Given the description of an element on the screen output the (x, y) to click on. 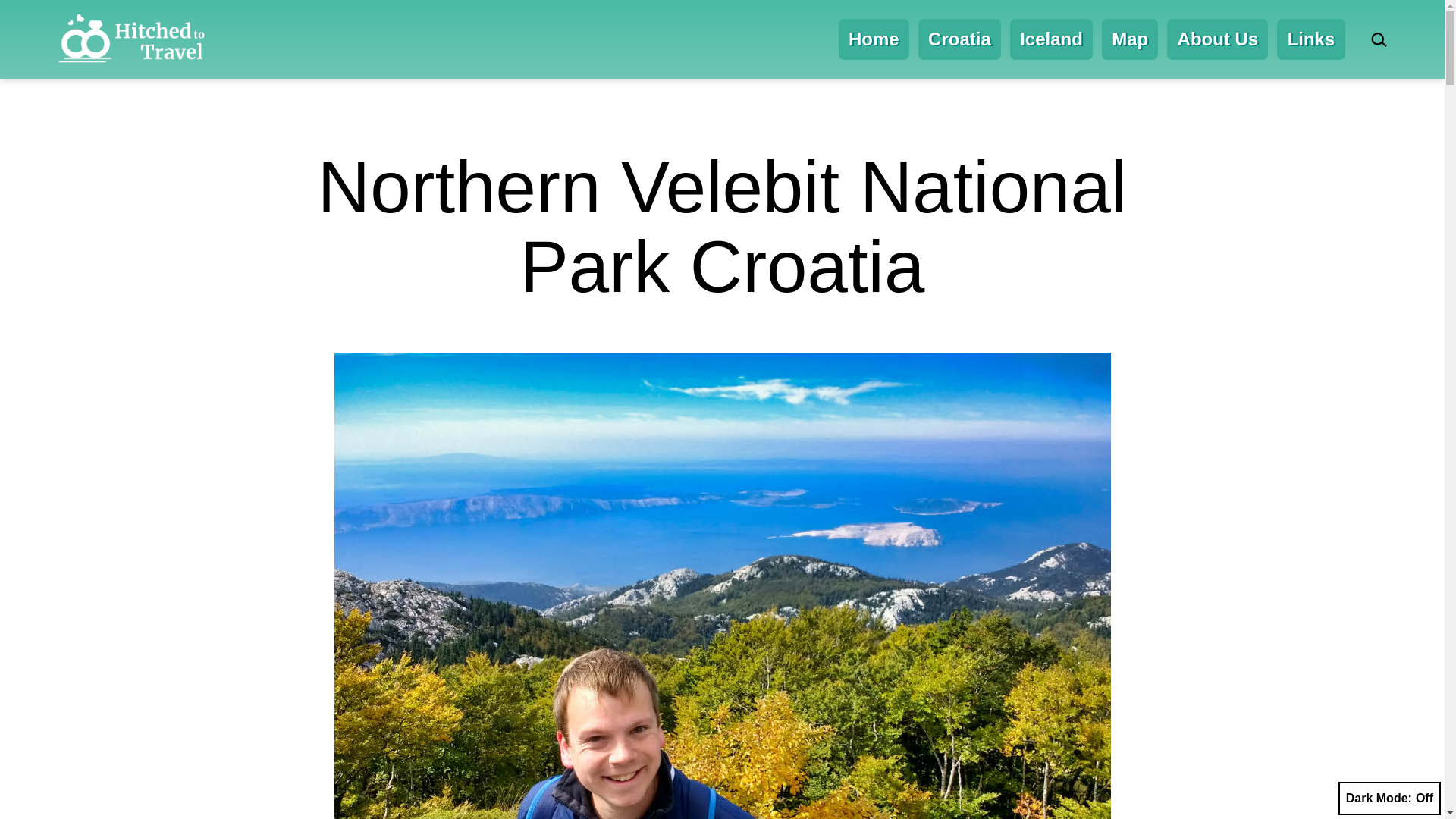
Iceland (1051, 38)
Map (1129, 38)
Home (873, 38)
Links (1309, 38)
About Us (1217, 38)
Croatia (959, 38)
